Given the description of an element on the screen output the (x, y) to click on. 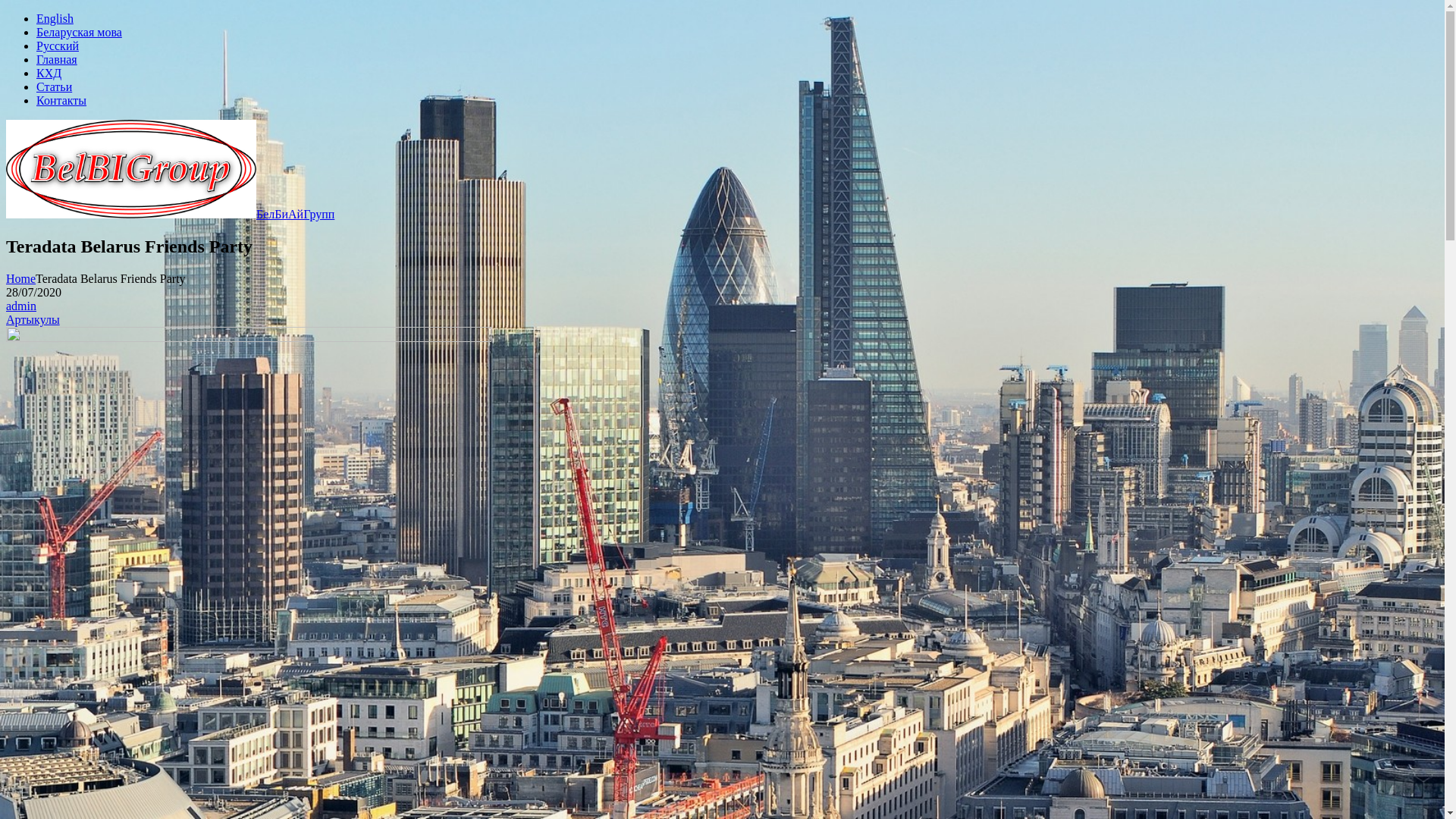
Home Element type: text (20, 278)
admin Element type: text (21, 305)
English Element type: text (54, 18)
